Given the description of an element on the screen output the (x, y) to click on. 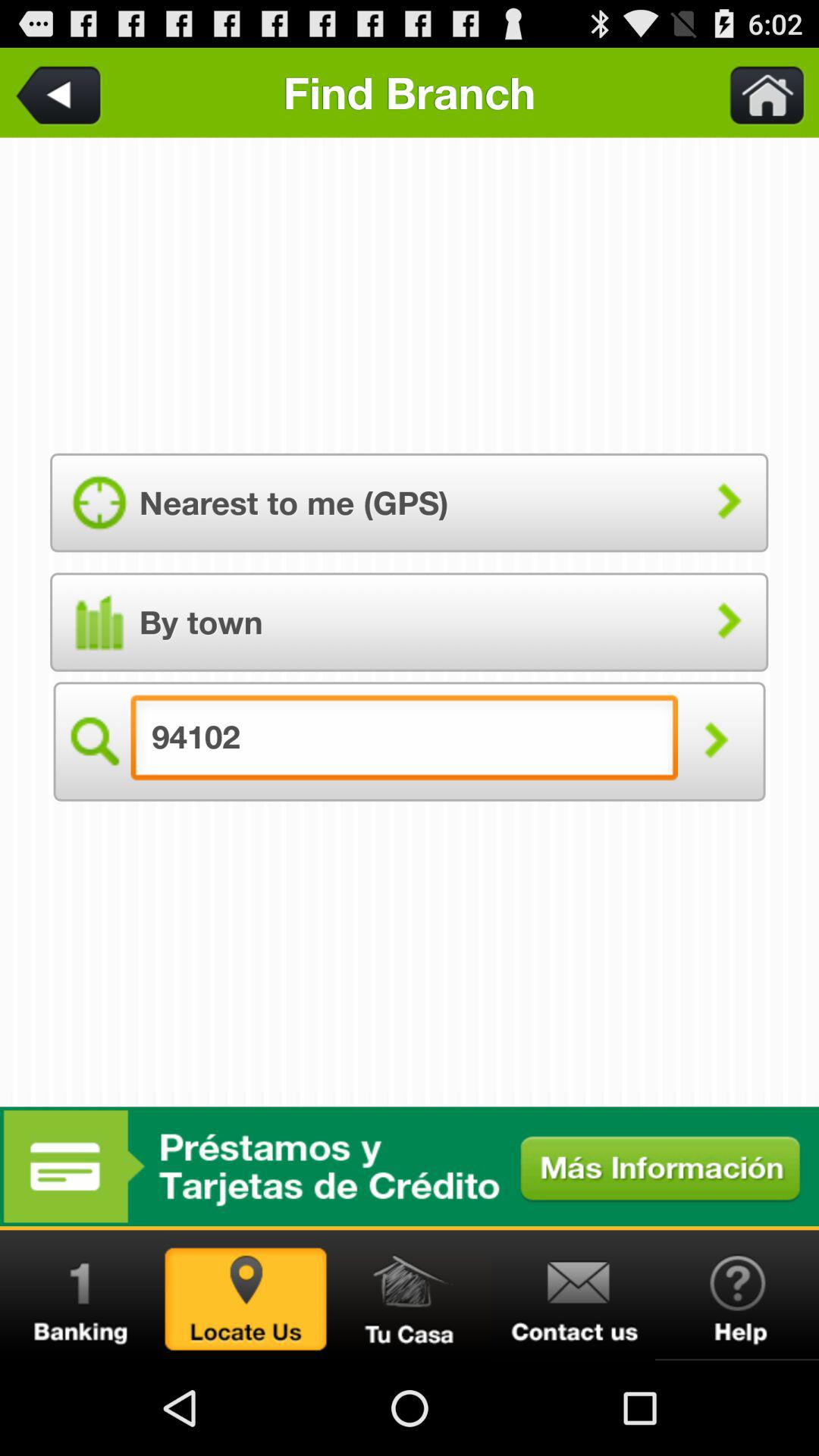
select banking (81, 1295)
